Given the description of an element on the screen output the (x, y) to click on. 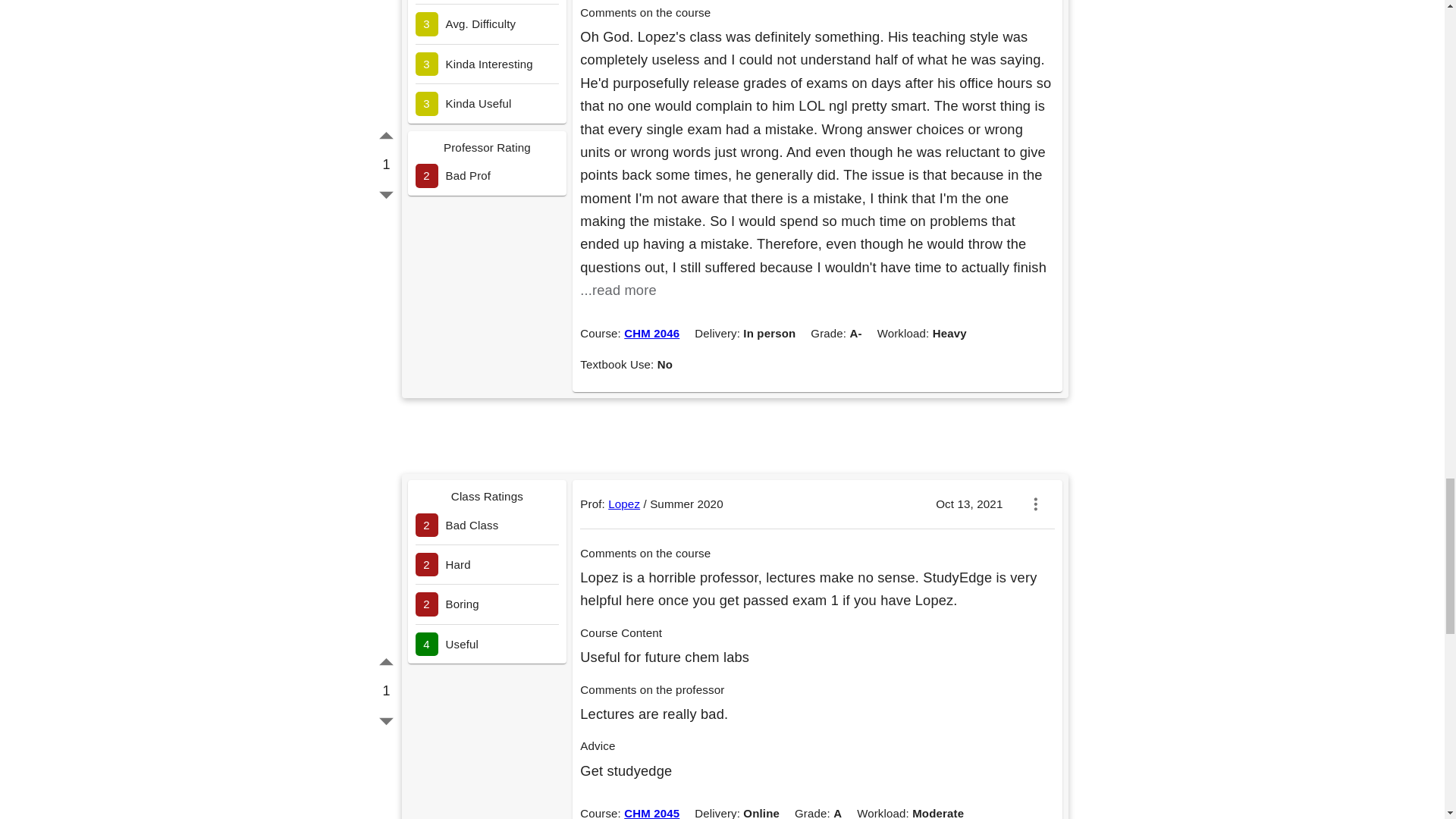
CHM 2046 (651, 332)
Lopez (624, 503)
CHM 2045 (651, 812)
...read more (617, 289)
